Given the description of an element on the screen output the (x, y) to click on. 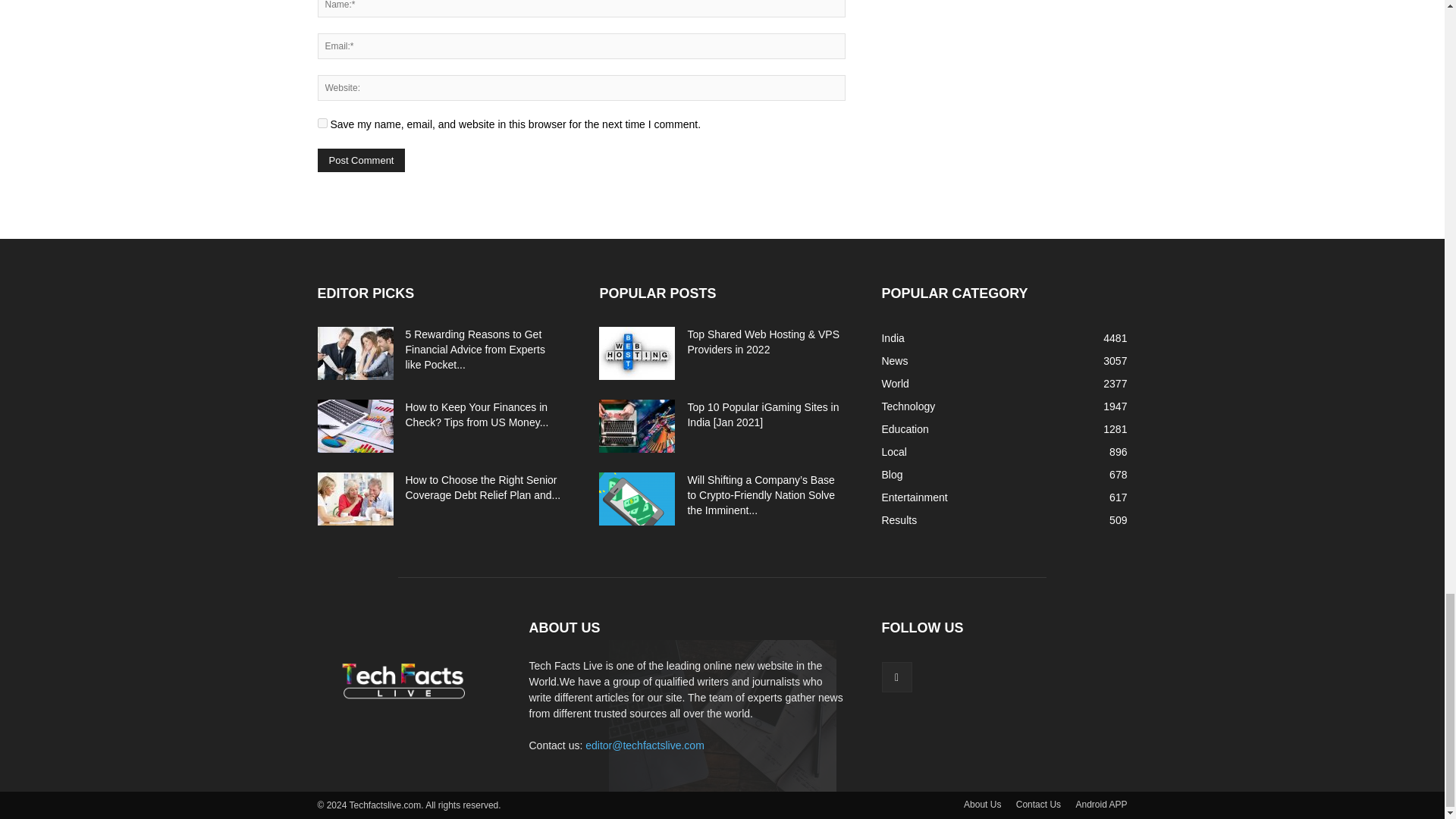
Post Comment (360, 159)
yes (321, 122)
